Given the description of an element on the screen output the (x, y) to click on. 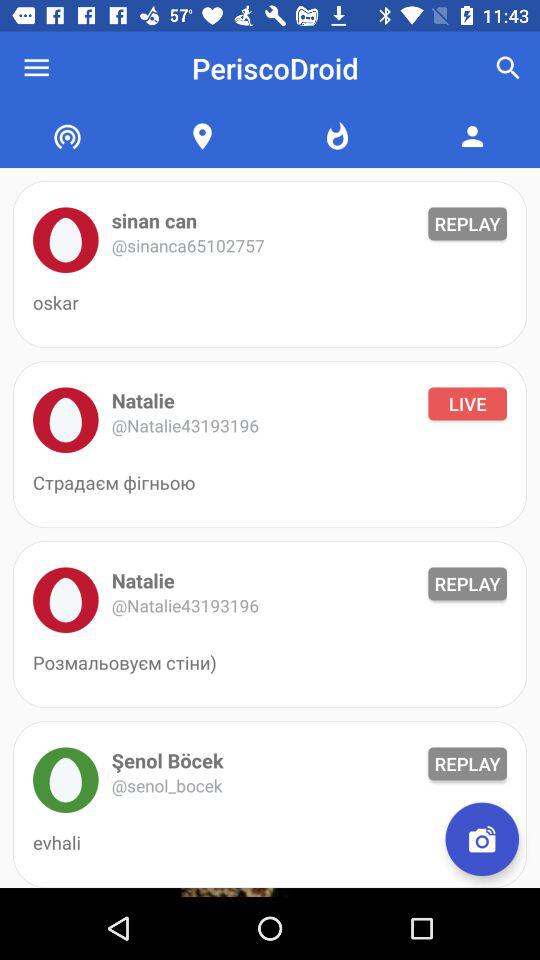
camera option (482, 839)
